Given the description of an element on the screen output the (x, y) to click on. 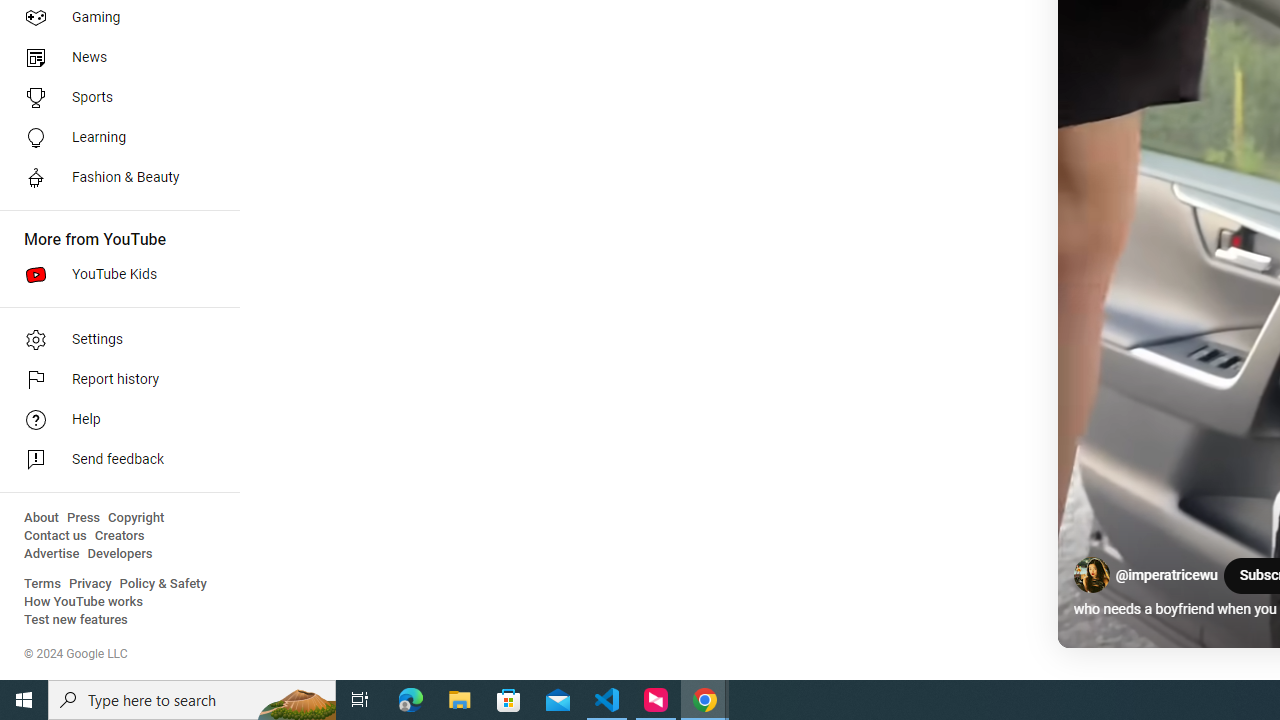
Learning (113, 137)
Report history (113, 380)
Sports (113, 97)
How YouTube works (83, 602)
About (41, 518)
@imperatricewu (1166, 575)
